Given the description of an element on the screen output the (x, y) to click on. 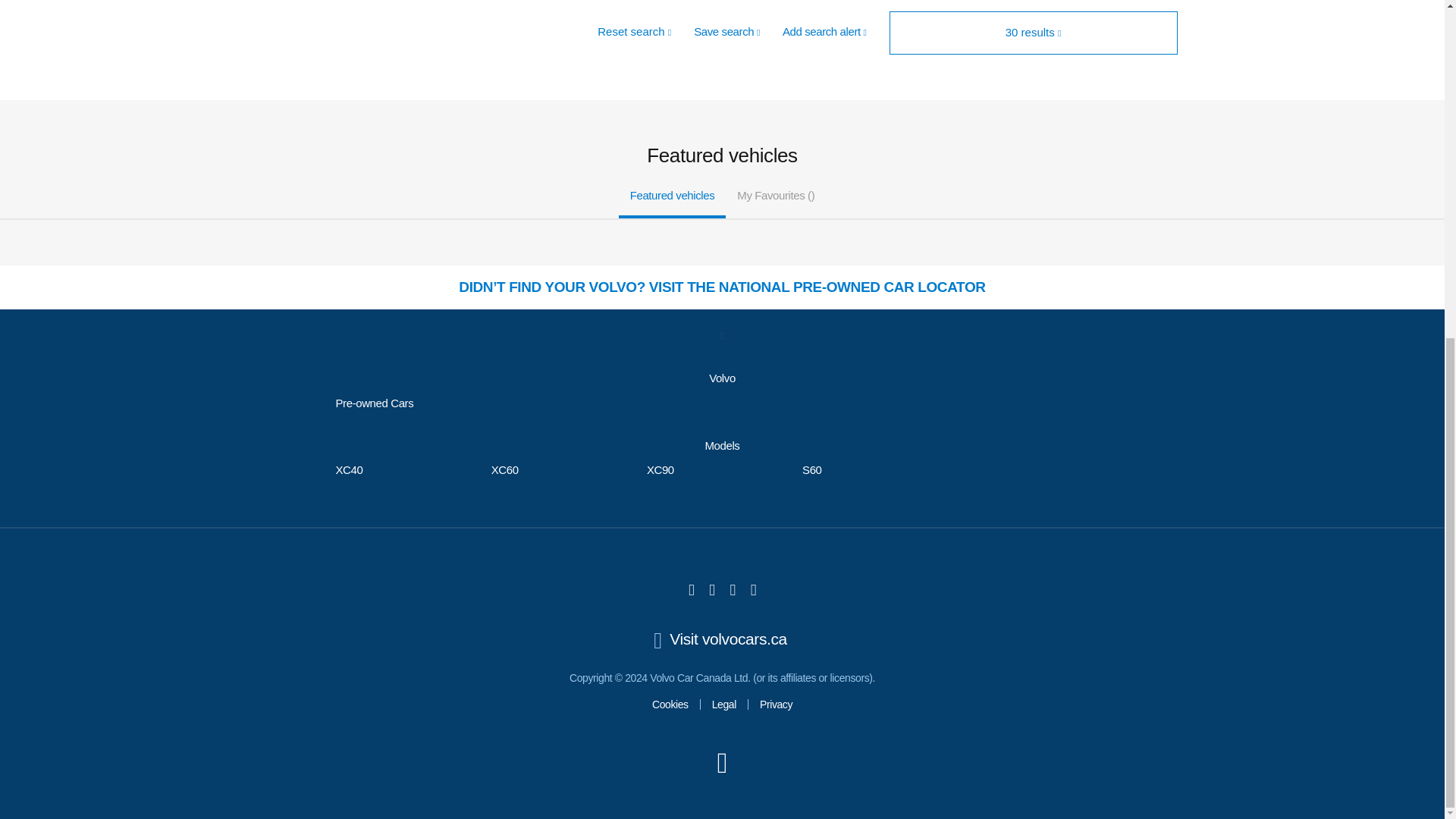
Reset search  (633, 32)
Add search alert  (824, 32)
Add search alert (824, 32)
XC40 (348, 469)
XC60 (505, 469)
XC40 (348, 469)
Pre-owned Cars (373, 402)
30 results  (1033, 32)
Save search (727, 32)
XC90 (660, 469)
Pre-owned Cars (373, 402)
S60 (812, 469)
Save search  (727, 32)
Featured vehicles (672, 195)
Visit volvocars.ca (722, 638)
